Given the description of an element on the screen output the (x, y) to click on. 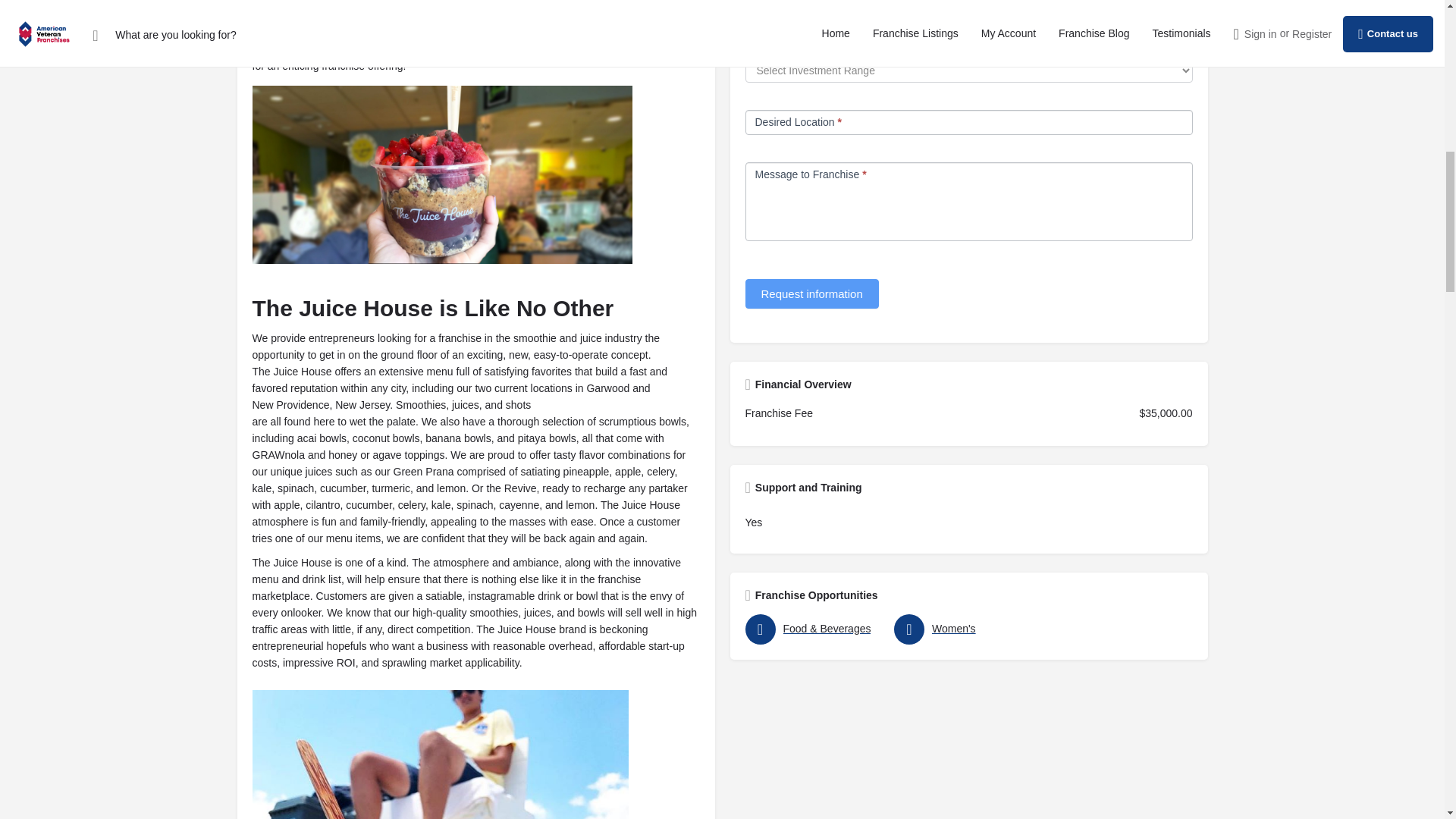
Page 5 (474, 686)
Request information (810, 293)
Women's (964, 629)
